Given the description of an element on the screen output the (x, y) to click on. 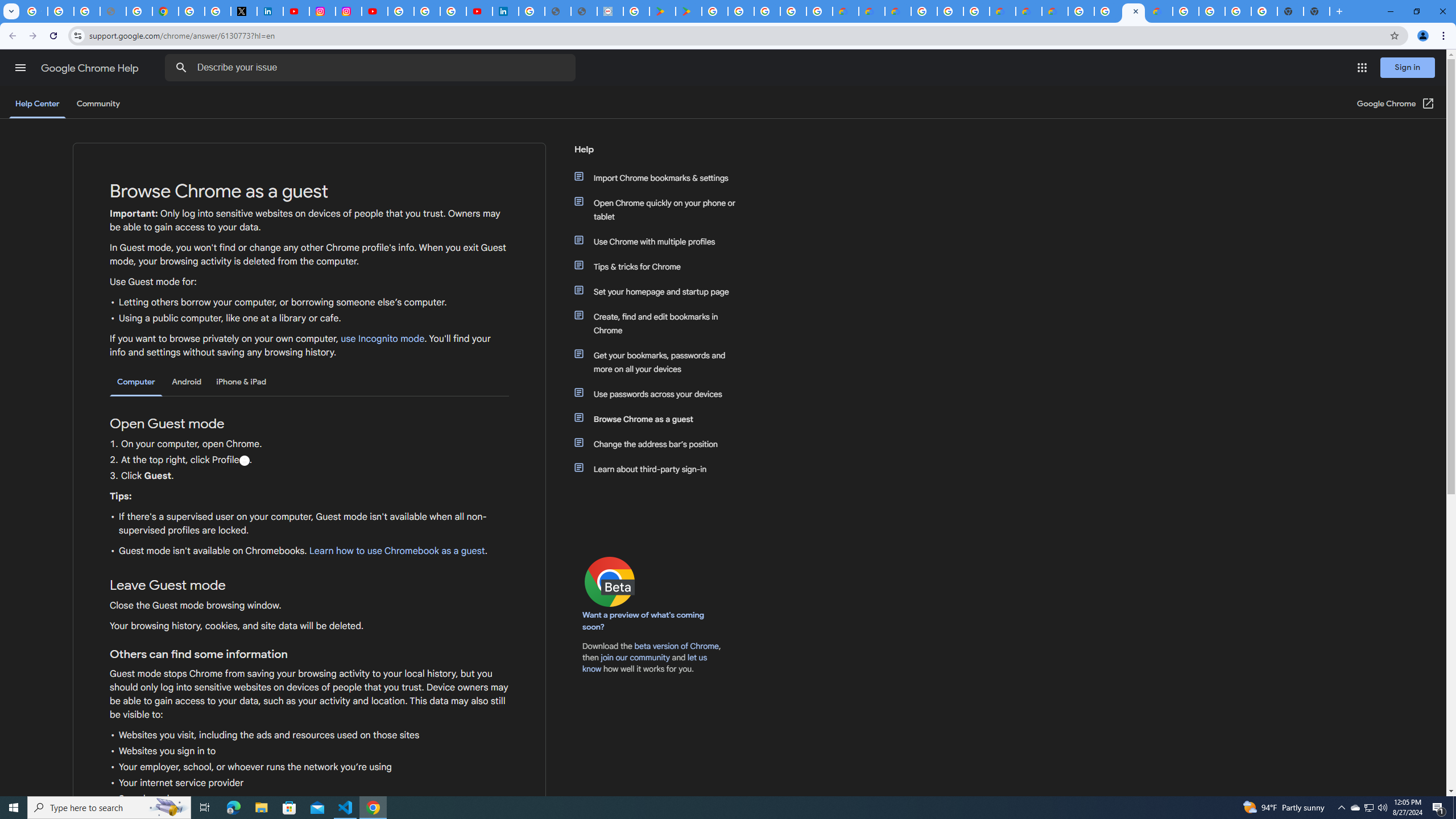
PAW Patrol Rescue World - Apps on Google Play (689, 11)
support.google.com - Network error (112, 11)
let us know (644, 663)
Learn how to use Chromebook as a guest (396, 550)
Google Cloud Platform (1185, 11)
Tips & tricks for Chrome (661, 266)
Sign in - Google Accounts (531, 11)
